Given the description of an element on the screen output the (x, y) to click on. 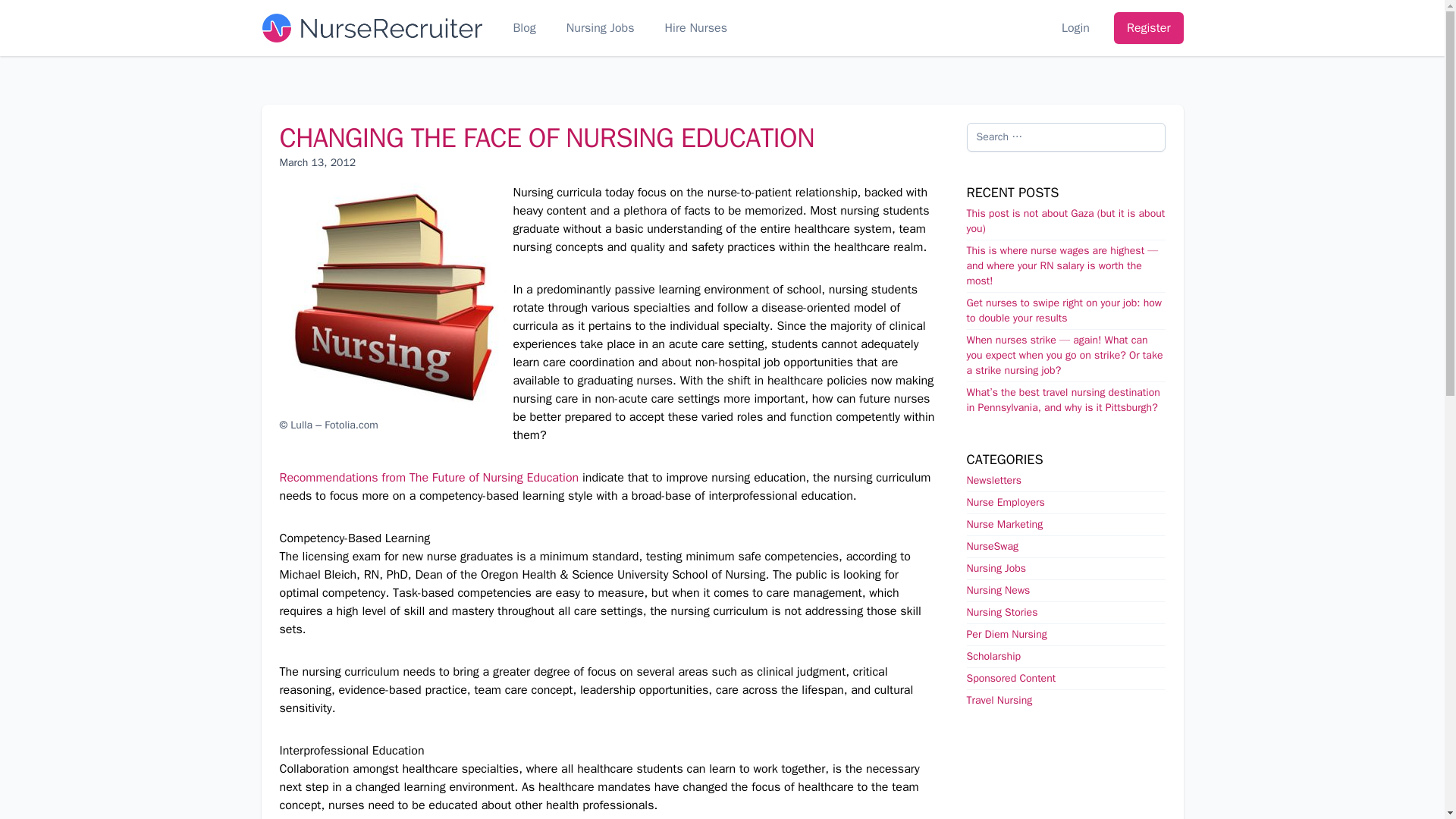
Nursing News (997, 590)
Login (1075, 27)
Recommendations from The Future of Nursing Education (428, 477)
Nursing Jobs (996, 567)
Per Diem Nursing (1006, 634)
CHANGING THE FACE OF NURSING EDUCATION (546, 137)
Newsletters (993, 480)
Nursing Stories (1001, 612)
Travel Nursing (999, 699)
Blog (523, 27)
Hire Nurses (695, 27)
Sponsored Content (1010, 677)
NurseSwag (991, 545)
Education books - nursing (392, 297)
